Given the description of an element on the screen output the (x, y) to click on. 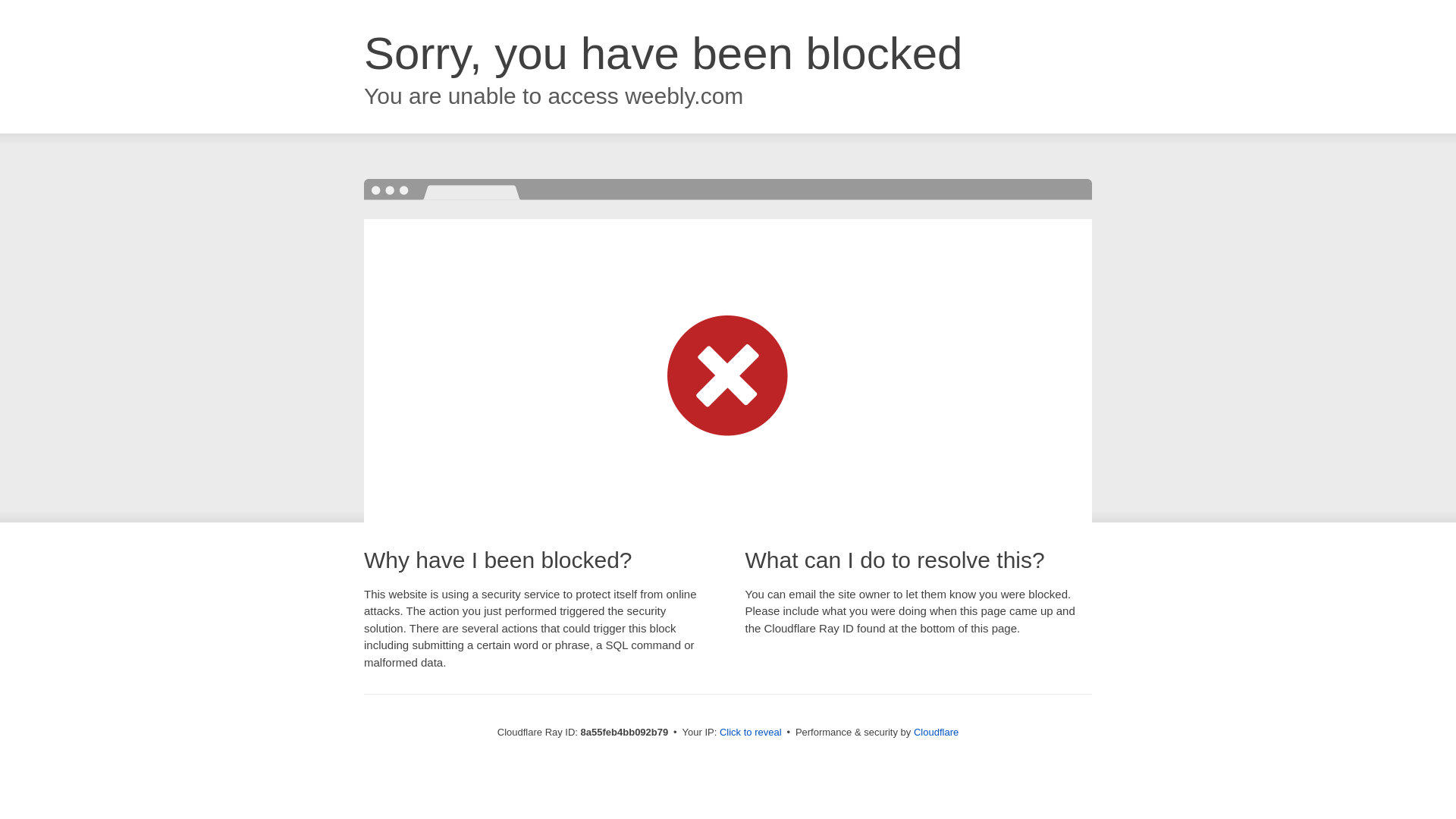
Cloudflare (936, 731)
Click to reveal (750, 732)
